Given the description of an element on the screen output the (x, y) to click on. 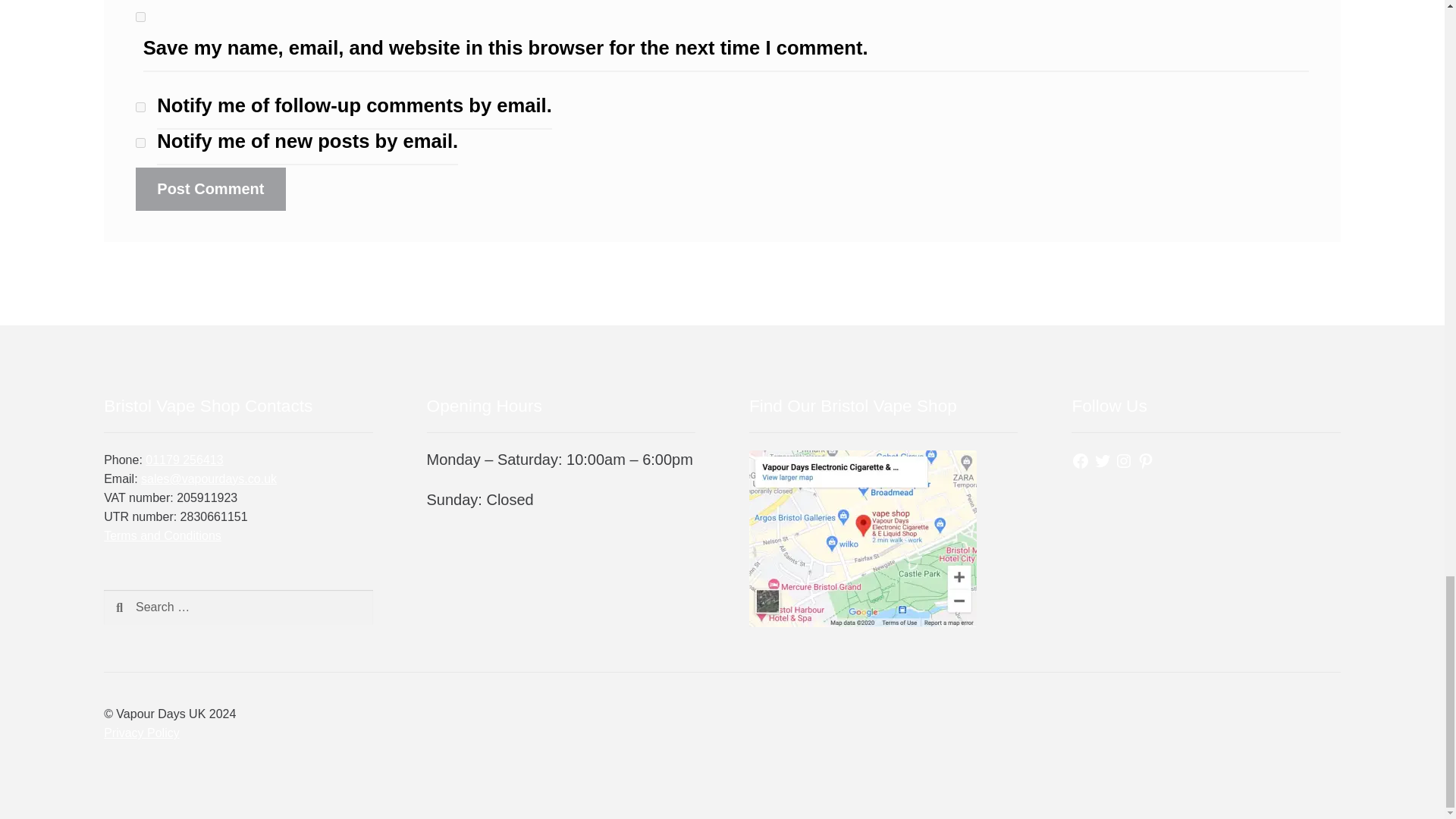
yes (140, 17)
subscribe (140, 107)
subscribe (140, 142)
Post Comment (210, 188)
